Given the description of an element on the screen output the (x, y) to click on. 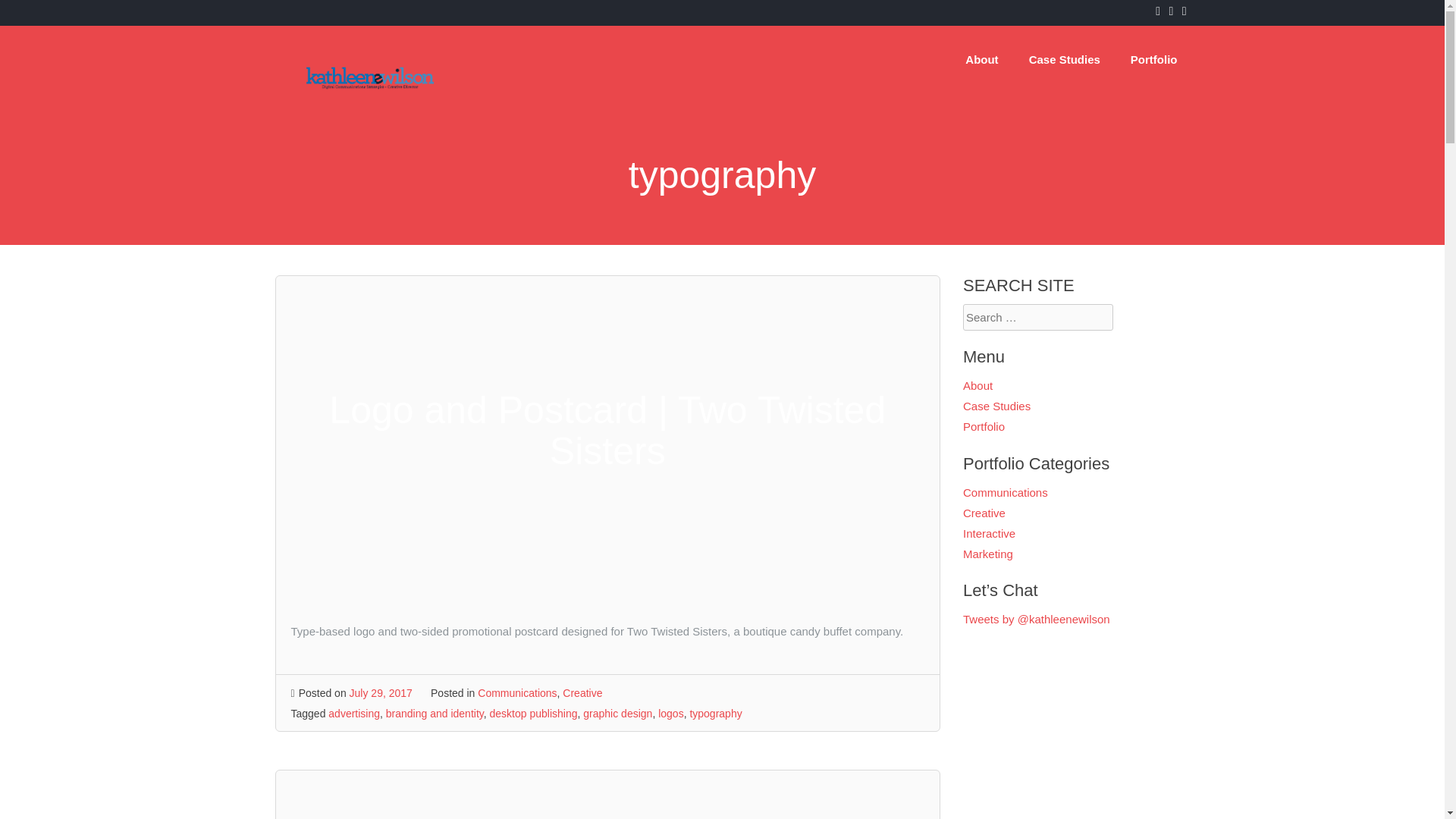
typography (714, 713)
Portfolio (1153, 59)
graphic design (617, 713)
About (981, 59)
advertising (354, 713)
Biography (981, 59)
Marketing initiatives (987, 553)
Communications (516, 693)
Case Studies (1064, 59)
Creative (582, 693)
